Given the description of an element on the screen output the (x, y) to click on. 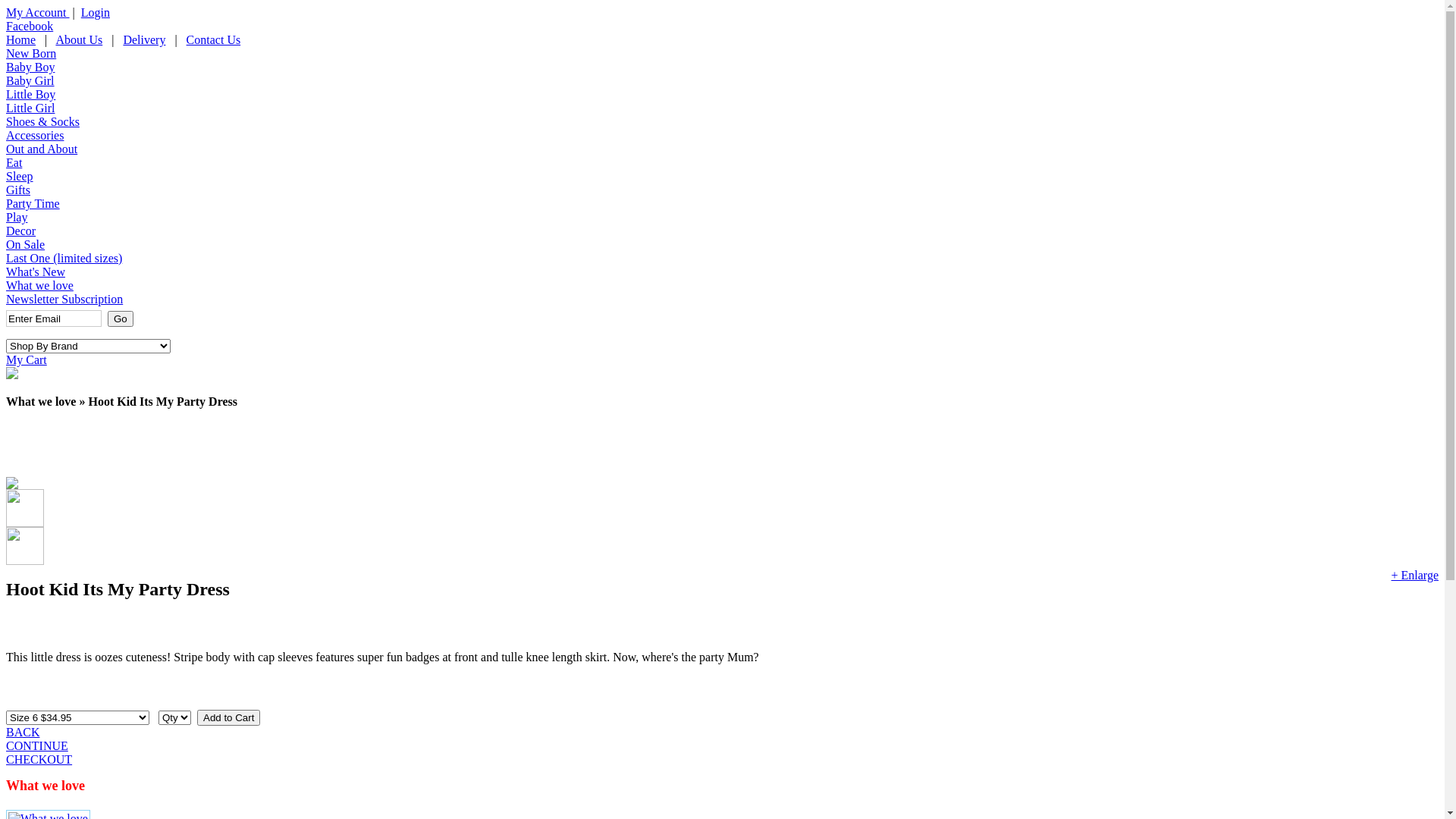
Baby Boy Element type: text (30, 66)
Facebook Element type: text (29, 25)
My Account Element type: text (37, 12)
Home Element type: text (20, 39)
My Cart Element type: text (26, 359)
Eat Element type: text (13, 162)
About Us Element type: text (78, 39)
Gifts Element type: text (18, 189)
Login Element type: text (95, 12)
Shoes & Socks Element type: text (42, 121)
Newsletter Subscription Element type: text (64, 298)
CHECKOUT Element type: text (39, 759)
Add to Cart Element type: text (228, 717)
What's New Element type: text (35, 271)
On Sale Element type: text (25, 244)
BACK Element type: text (22, 731)
Baby Girl Element type: text (30, 80)
Go Element type: text (120, 318)
Little Girl Element type: text (30, 107)
Its My Party Dress Element type: hover (12, 484)
Play Element type: text (16, 216)
Last One (limited sizes) Element type: text (64, 257)
Party Time Element type: text (32, 203)
Delivery Element type: text (143, 39)
Accessories Element type: text (34, 134)
+ Enlarge Element type: text (1414, 574)
New Born Element type: text (31, 53)
Decor Element type: text (20, 230)
Contact Us Element type: text (213, 39)
Out and About Element type: text (41, 148)
What we love Element type: text (39, 285)
Sleep Element type: text (19, 175)
Little Boy Element type: text (30, 93)
CONTINUE Element type: text (37, 745)
